Given the description of an element on the screen output the (x, y) to click on. 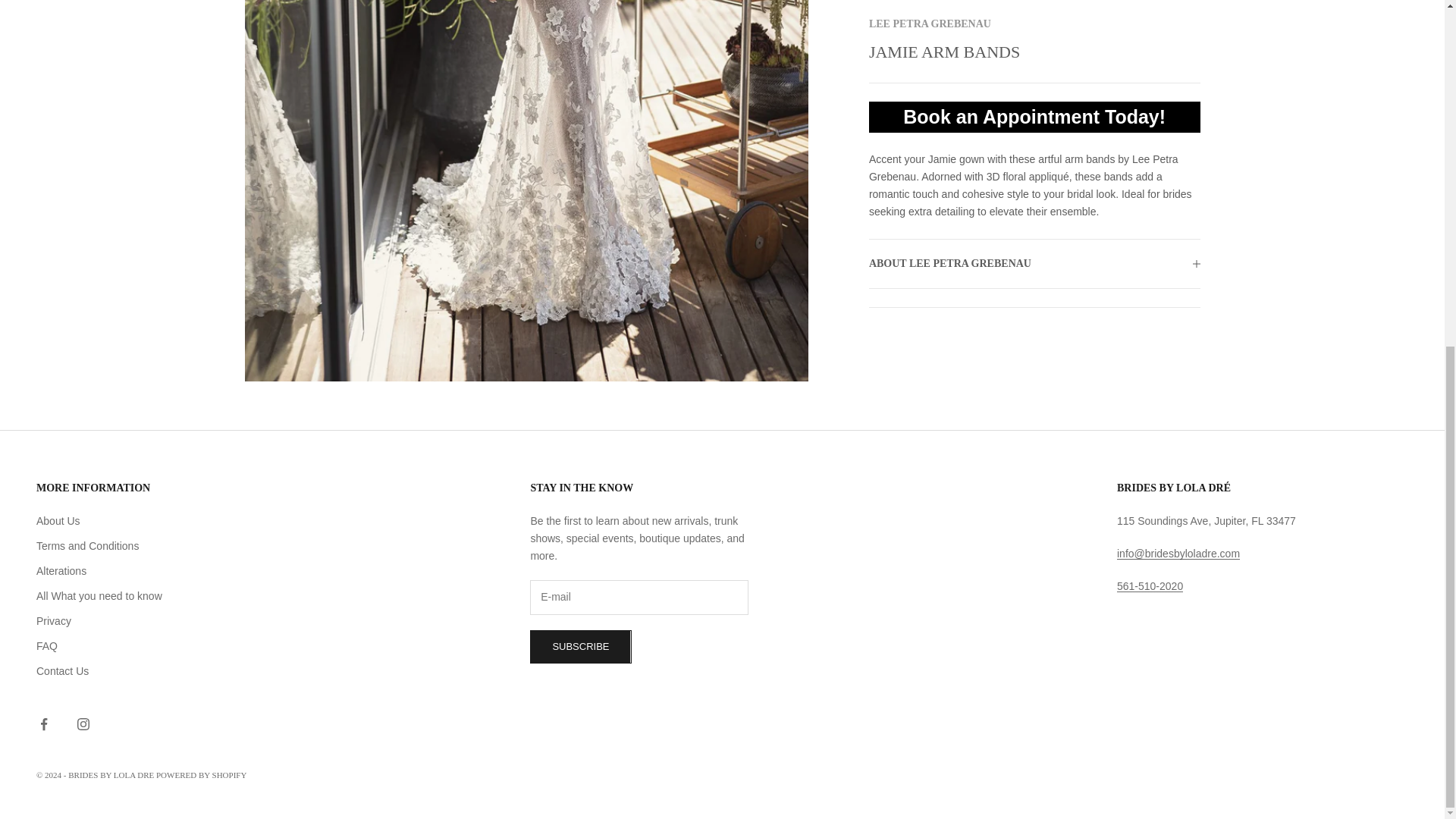
tel:5615102020 (1149, 585)
